Given the description of an element on the screen output the (x, y) to click on. 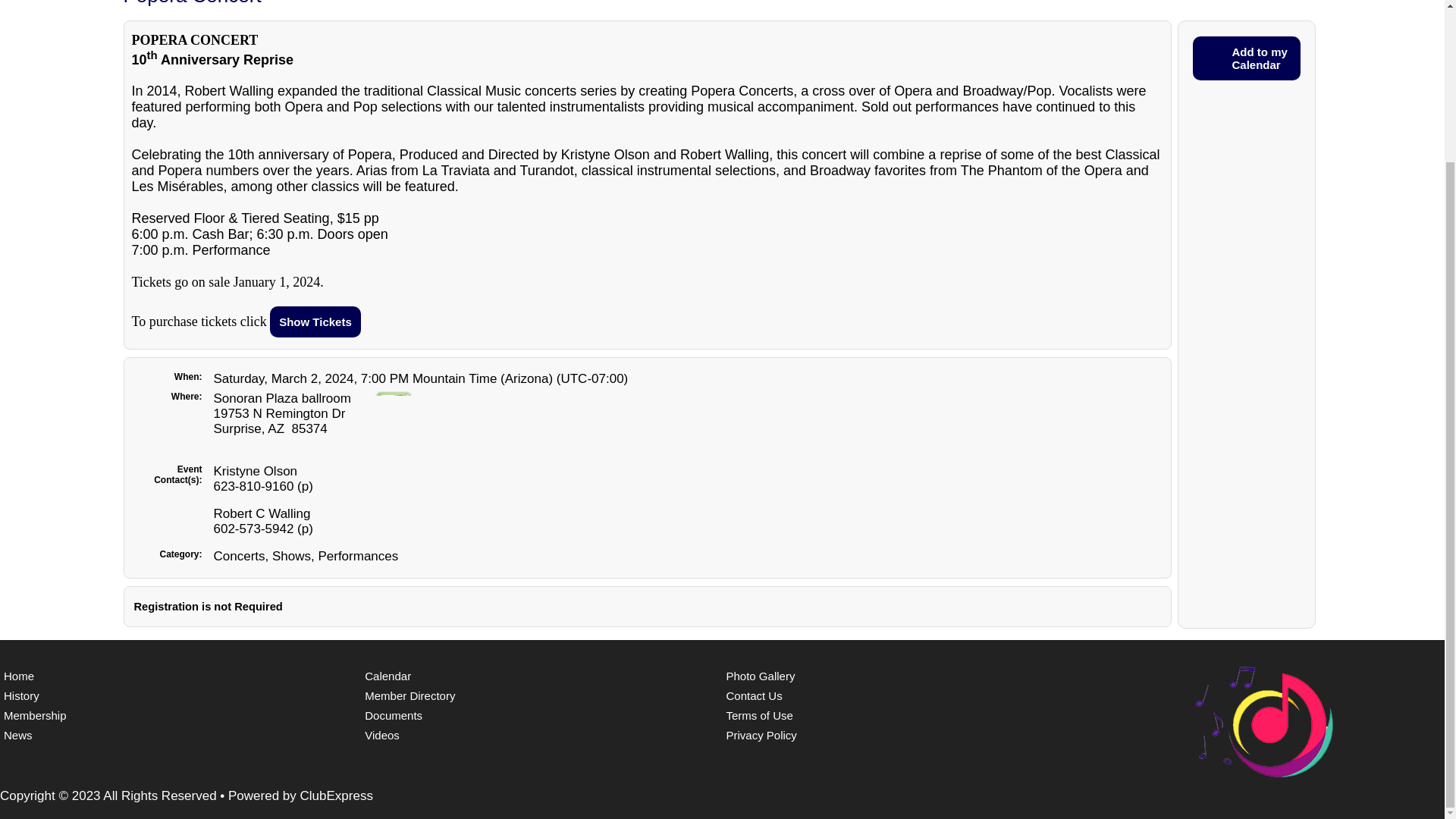
Add to my Calendar (1246, 58)
vCalendar (1246, 58)
Show Tickets (315, 321)
Click 'Google Maps' for a map and directions to the event (393, 409)
Home (180, 676)
